Given the description of an element on the screen output the (x, y) to click on. 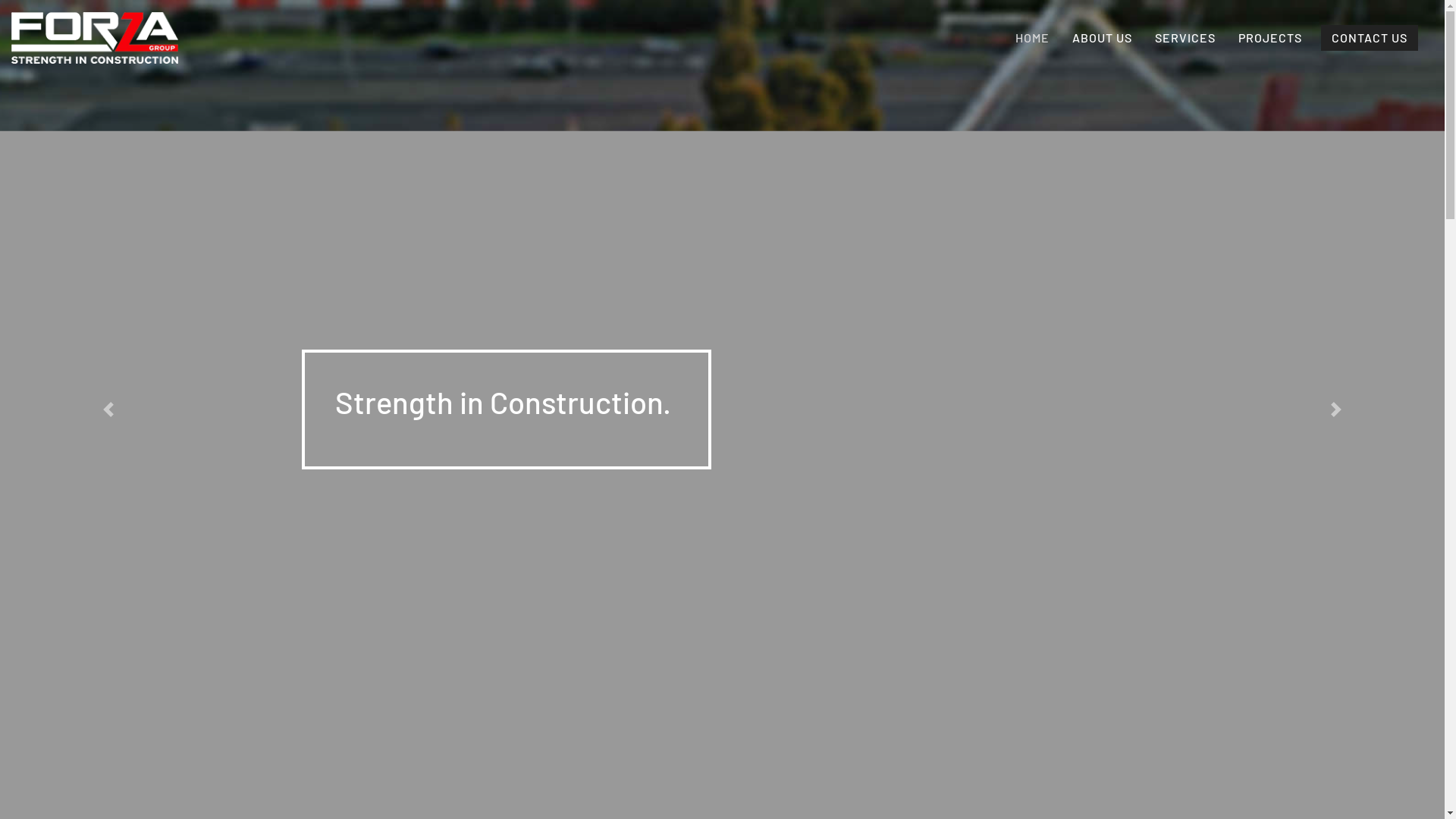
HOME Element type: text (1032, 37)
SERVICES Element type: text (1185, 37)
ABOUT US Element type: text (1101, 37)
PROJECTS Element type: text (1269, 37)
CONTACT US Element type: text (1369, 37)
